Given the description of an element on the screen output the (x, y) to click on. 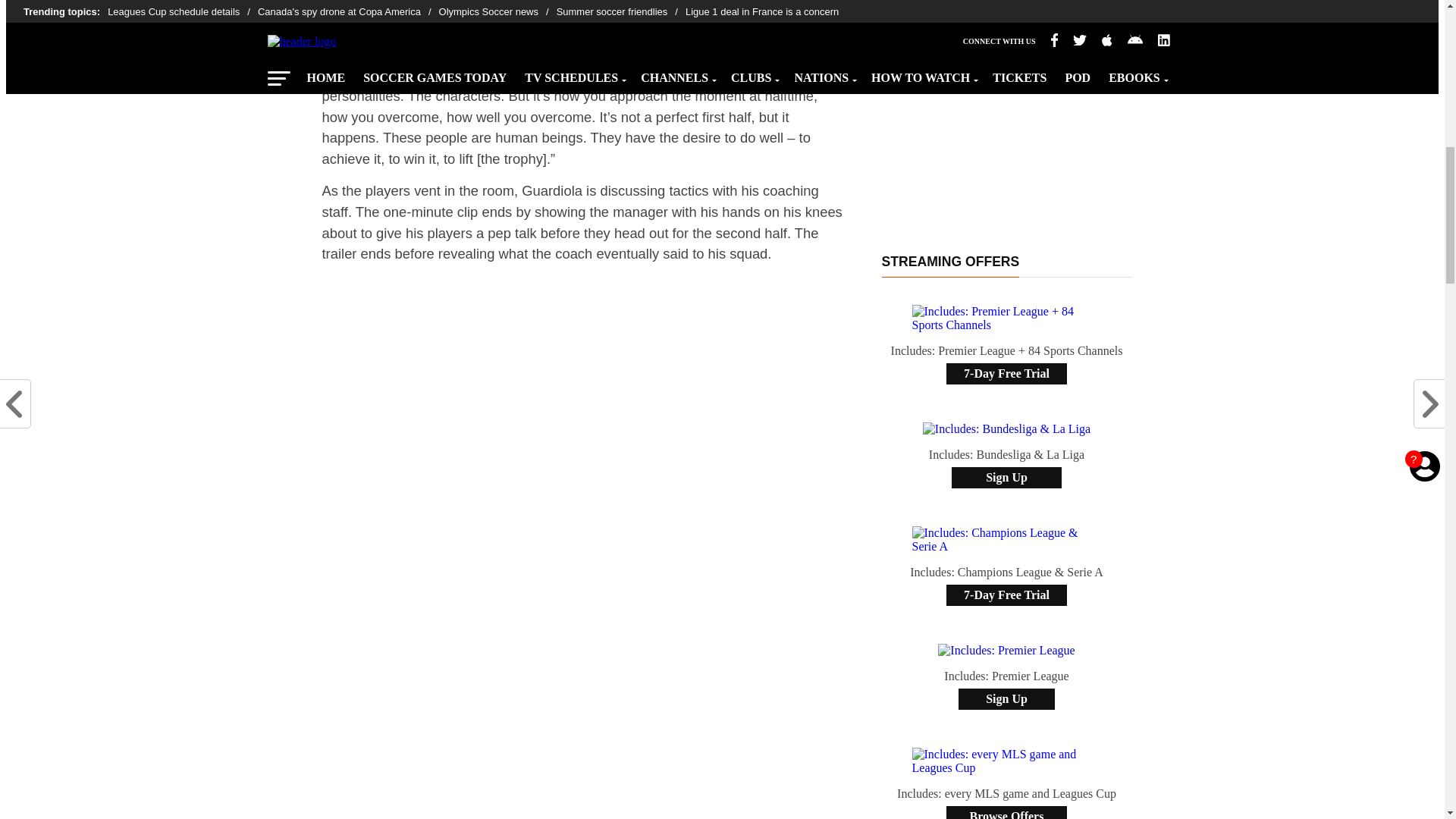
City (414, 4)
Inter Milan (556, 21)
